Given the description of an element on the screen output the (x, y) to click on. 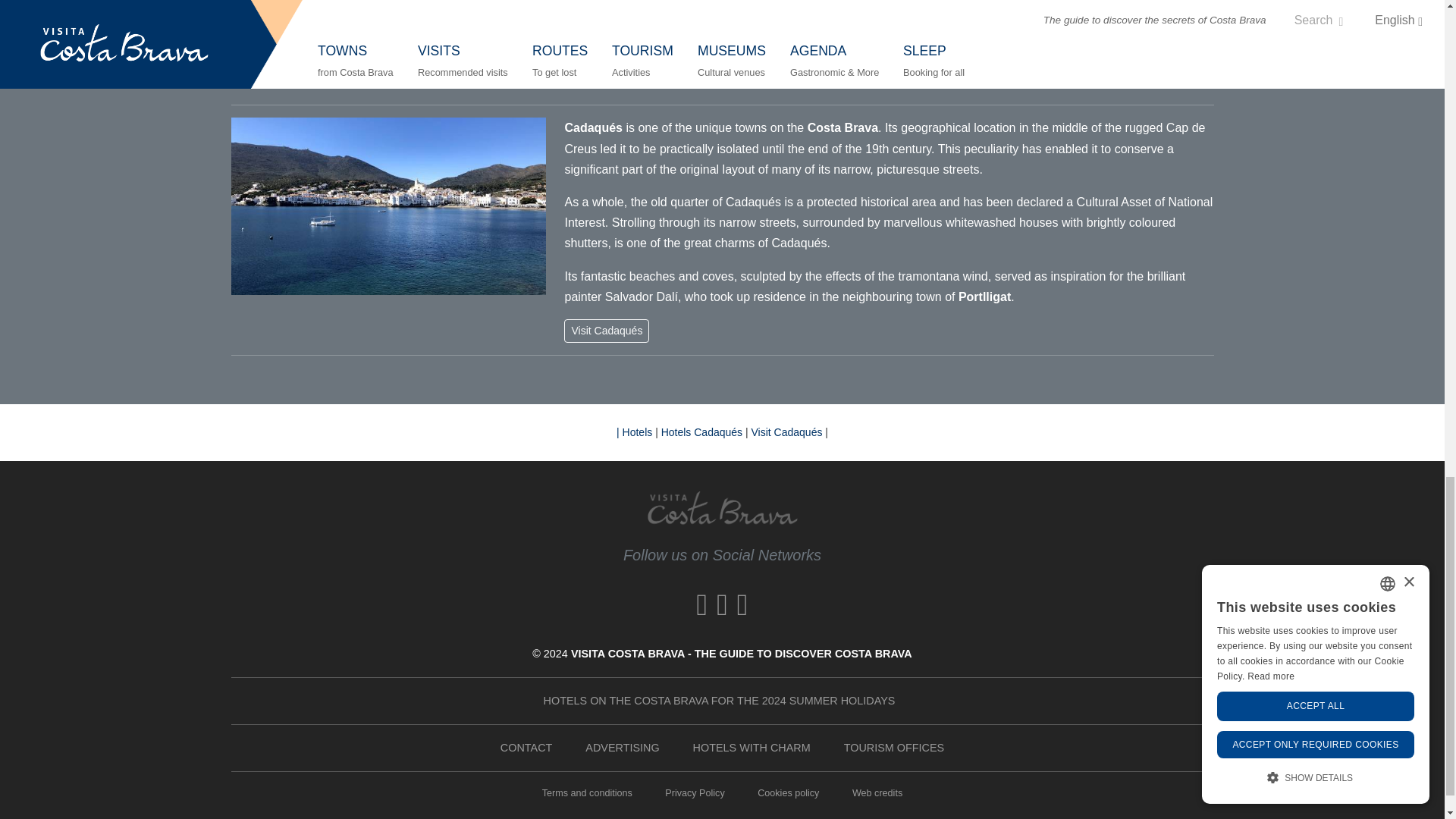
Facebook (702, 607)
Portlligat (984, 296)
Tourism Offices de la Costa Brava (893, 747)
Hotels with charm en la Costa Brava (751, 747)
Portlligat (984, 296)
Instagram (742, 607)
X (722, 607)
